Given the description of an element on the screen output the (x, y) to click on. 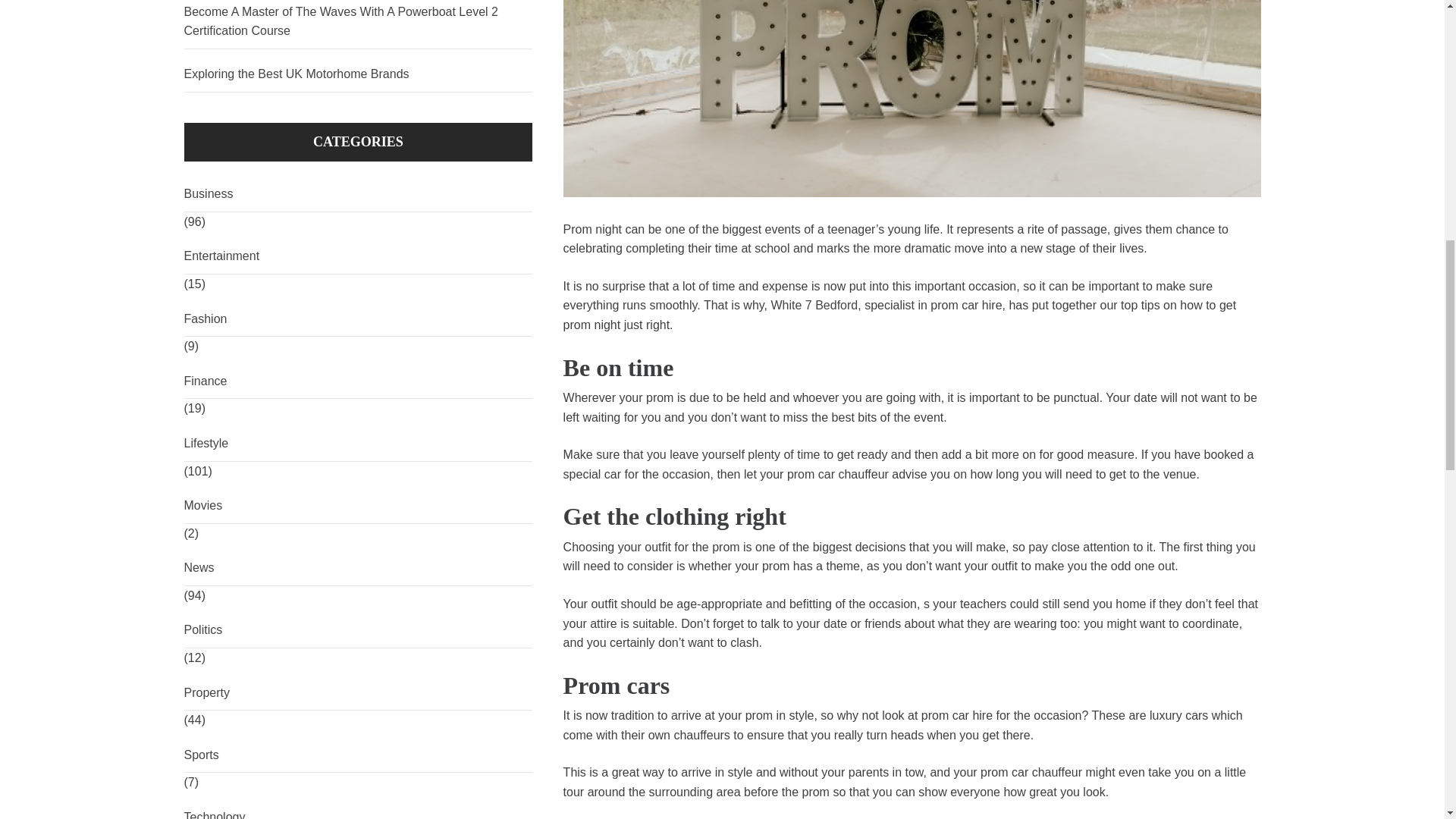
Lifestyle (357, 443)
Technology (357, 809)
White 7 Bedford (813, 305)
Property (357, 693)
Business (357, 194)
Entertainment (357, 256)
Politics (357, 630)
News (357, 568)
Movies (357, 506)
